Given the description of an element on the screen output the (x, y) to click on. 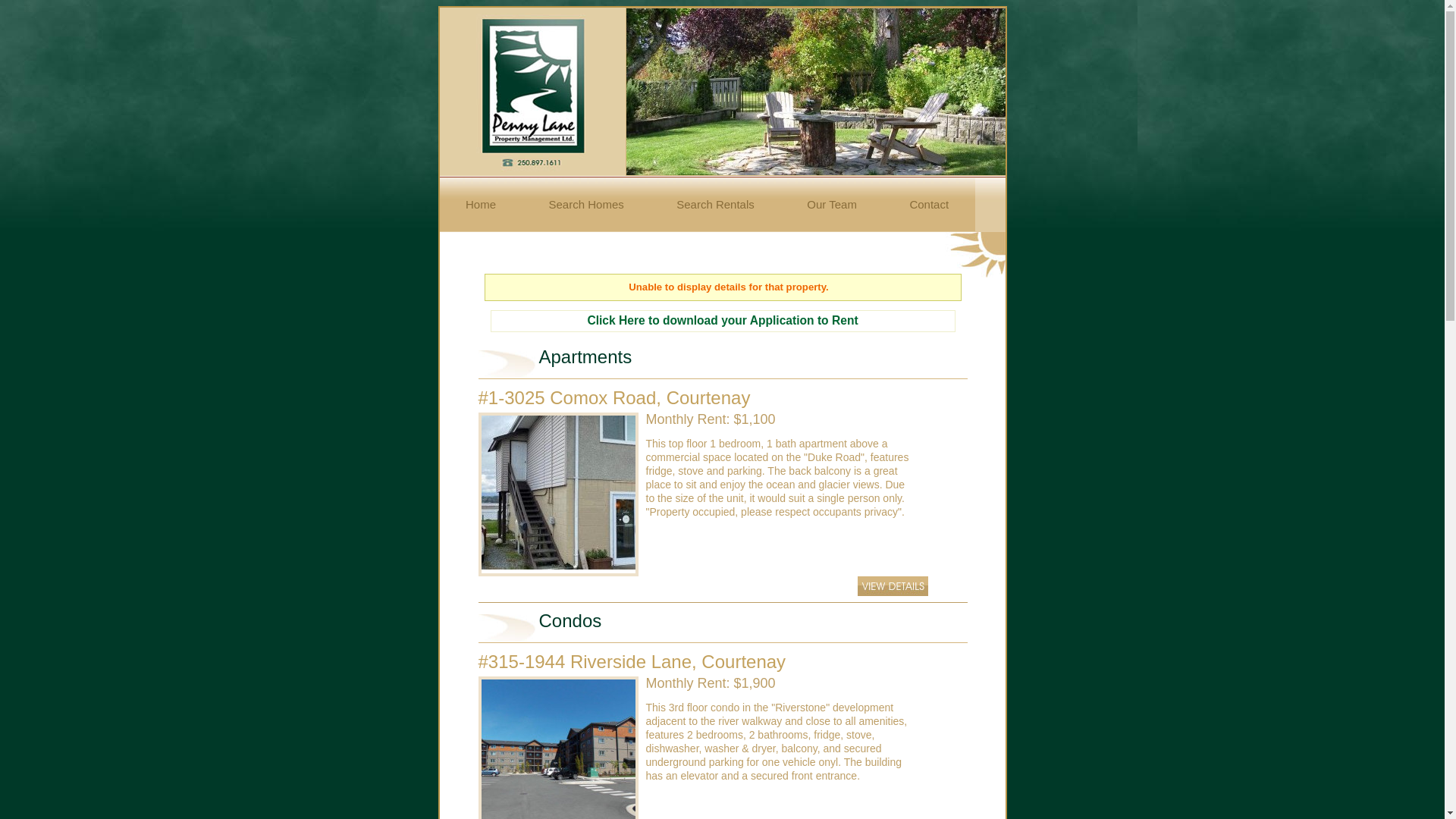
Click Here to download your Application to Rent Element type: text (721, 319)
Search Rentals Element type: text (715, 204)
Our Team Element type: text (832, 204)
Contact Element type: text (929, 204)
Home Element type: text (481, 204)
Search Homes Element type: text (586, 204)
